Given the description of an element on the screen output the (x, y) to click on. 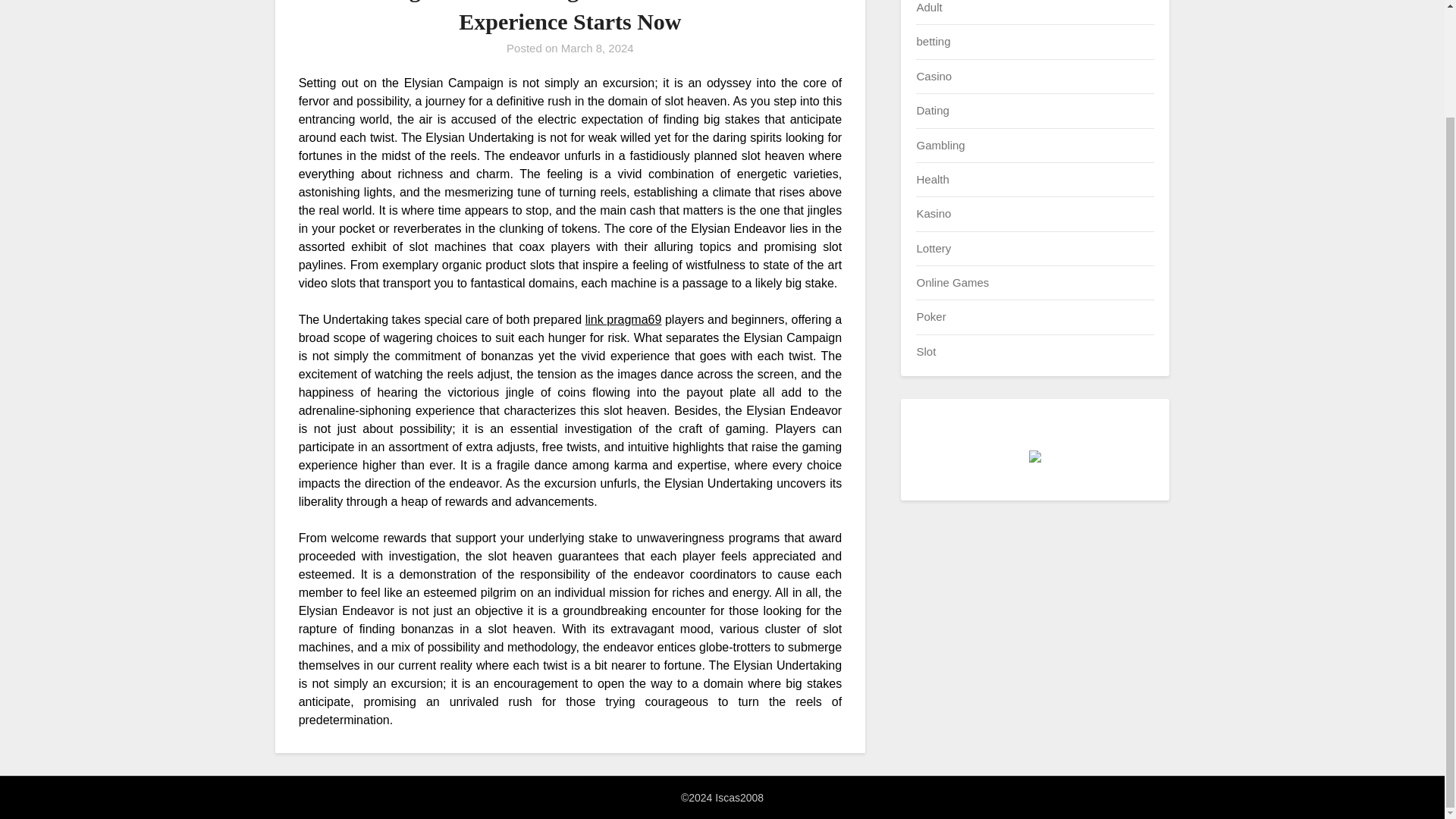
Slot (925, 350)
Kasino (932, 213)
Dating (932, 110)
Health (932, 178)
betting (932, 41)
Casino (933, 75)
Gambling (939, 144)
Lottery (932, 247)
Poker (929, 316)
March 8, 2024 (596, 47)
